Given the description of an element on the screen output the (x, y) to click on. 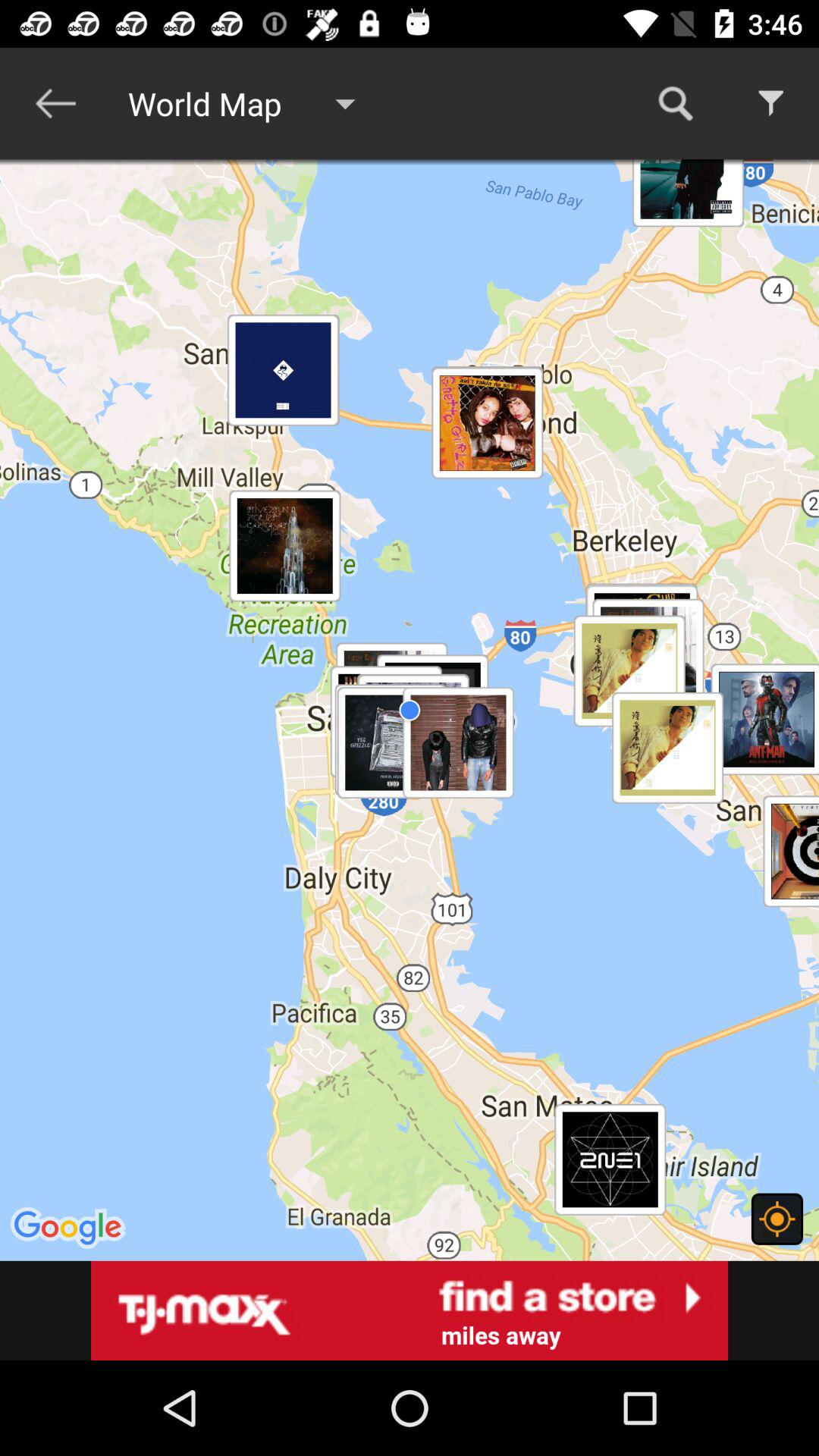
launch icon at the bottom right corner (777, 1218)
